Given the description of an element on the screen output the (x, y) to click on. 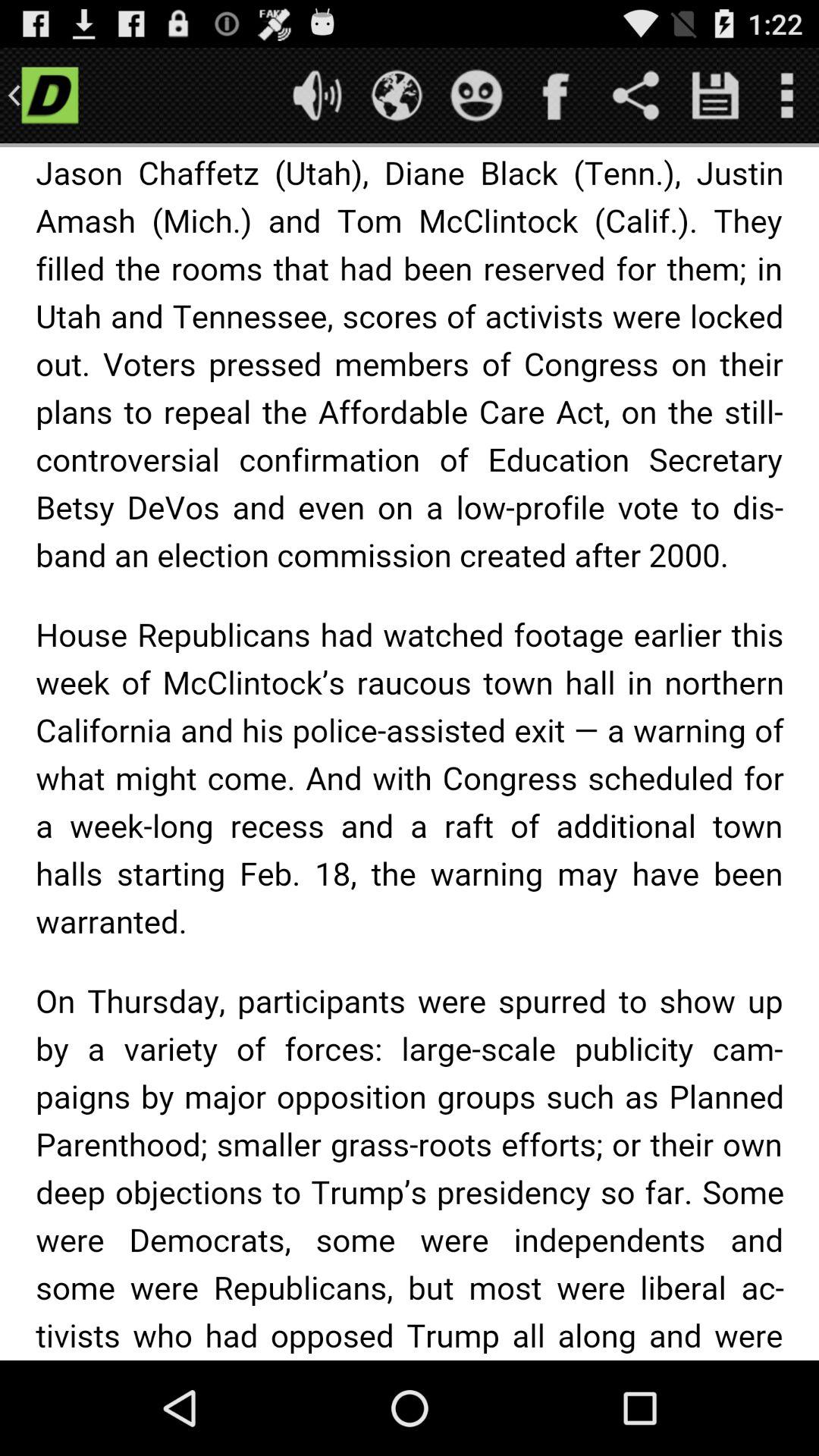
save option (715, 95)
